Given the description of an element on the screen output the (x, y) to click on. 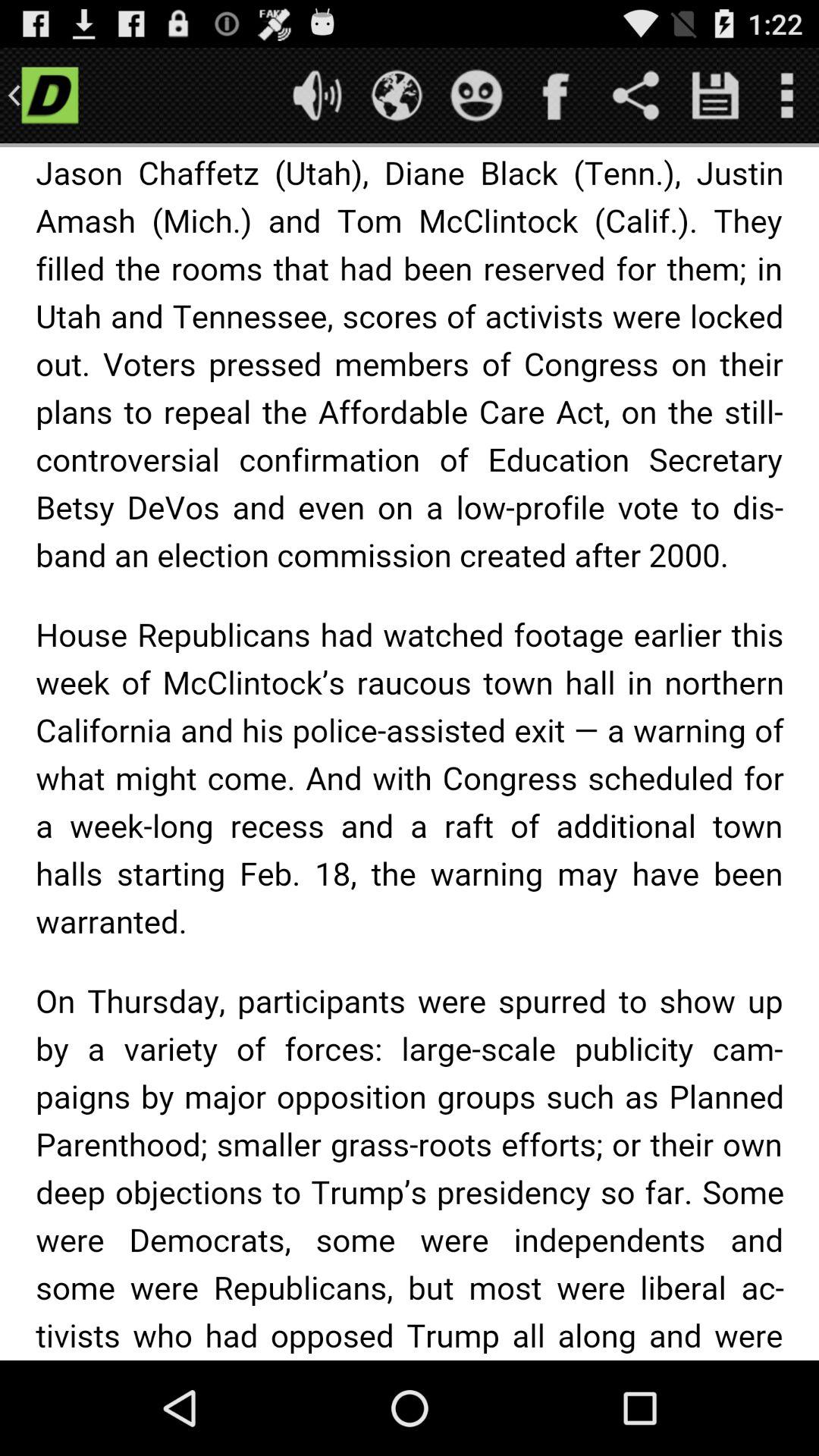
save option (715, 95)
